Given the description of an element on the screen output the (x, y) to click on. 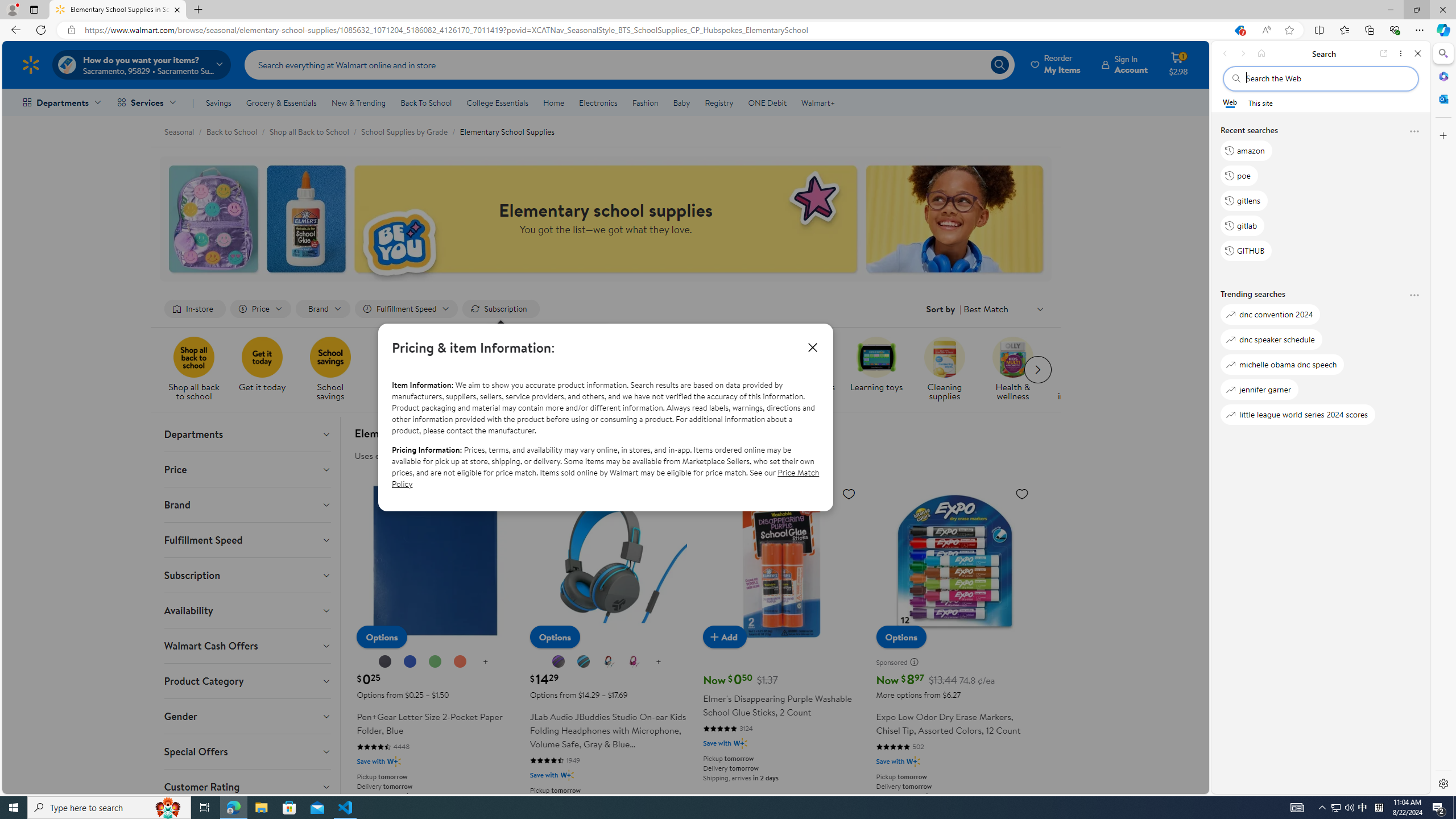
Close dialog (812, 346)
michelle obama dnc speech (1281, 364)
gitlens (1244, 200)
dnc speaker schedule (1271, 339)
